Given the description of an element on the screen output the (x, y) to click on. 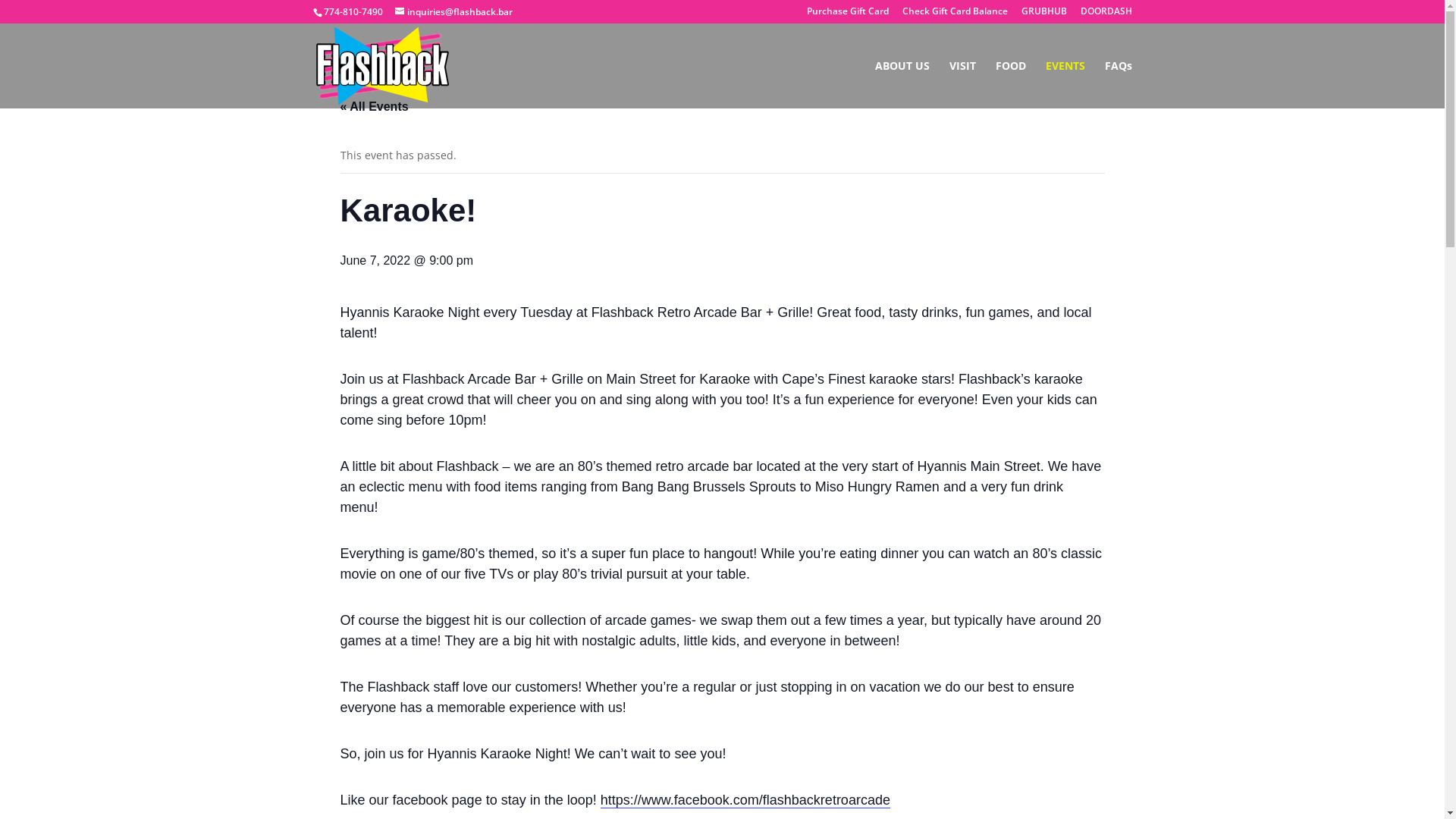
https://www.facebook.com/flashbackretroarcade Element type: text (745, 800)
ABOUT US Element type: text (902, 84)
EVENTS Element type: text (1064, 84)
GRUBHUB Element type: text (1043, 14)
VISIT Element type: text (962, 84)
FOOD Element type: text (1009, 84)
Check Gift Card Balance Element type: text (954, 14)
inquiries@flashback.bar Element type: text (452, 11)
Purchase Gift Card Element type: text (847, 14)
DOORDASH Element type: text (1105, 14)
FAQs Element type: text (1117, 84)
